Given the description of an element on the screen output the (x, y) to click on. 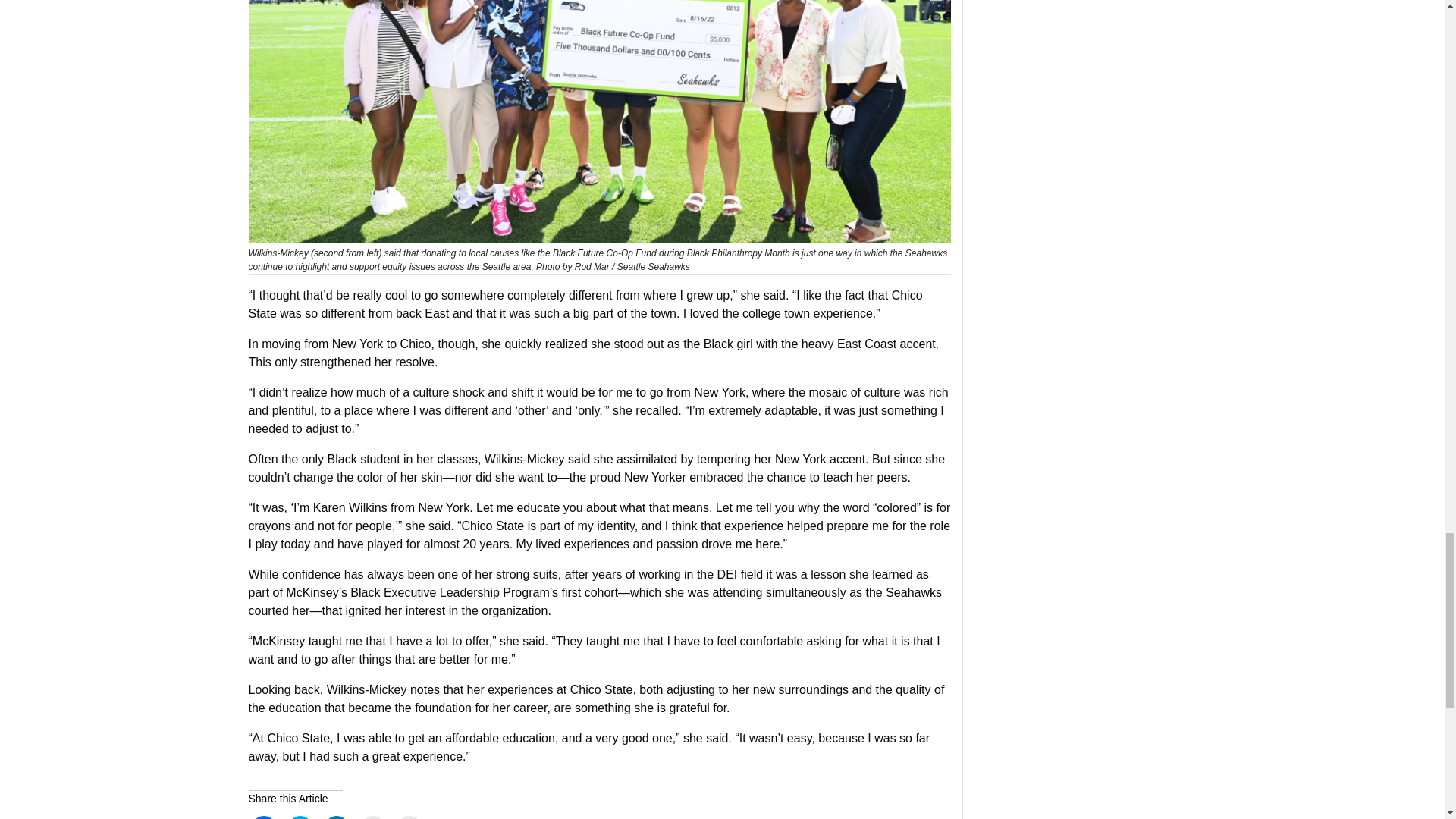
Click to share on Facebook (263, 817)
Click to print (409, 817)
Click to share on Twitter (300, 817)
Click to email a link to a friend (373, 817)
Click to share on LinkedIn (336, 817)
